Given the description of an element on the screen output the (x, y) to click on. 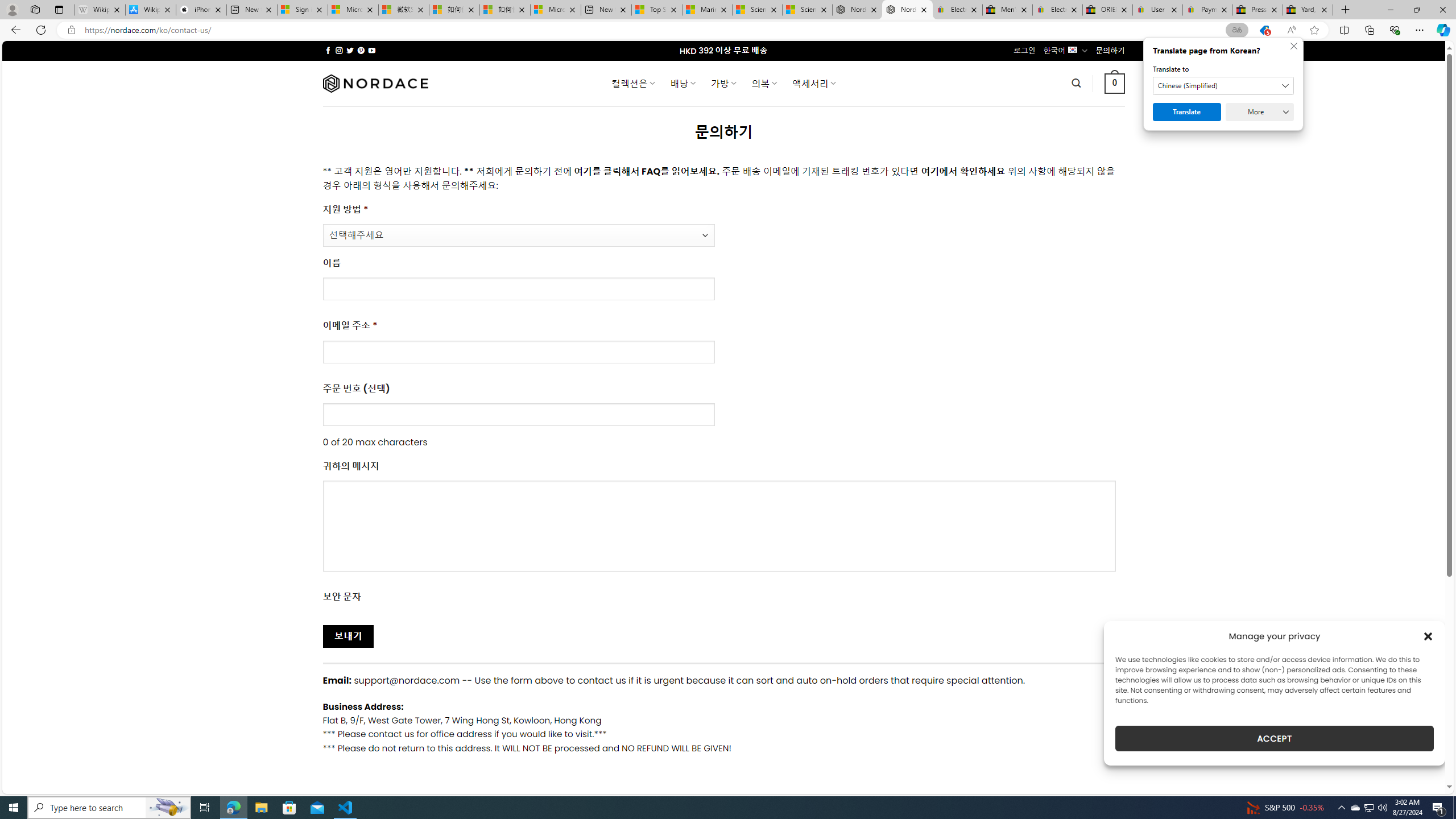
Follow on Pinterest (360, 50)
ACCEPT (1274, 738)
Translate to (1223, 85)
